Given the description of an element on the screen output the (x, y) to click on. 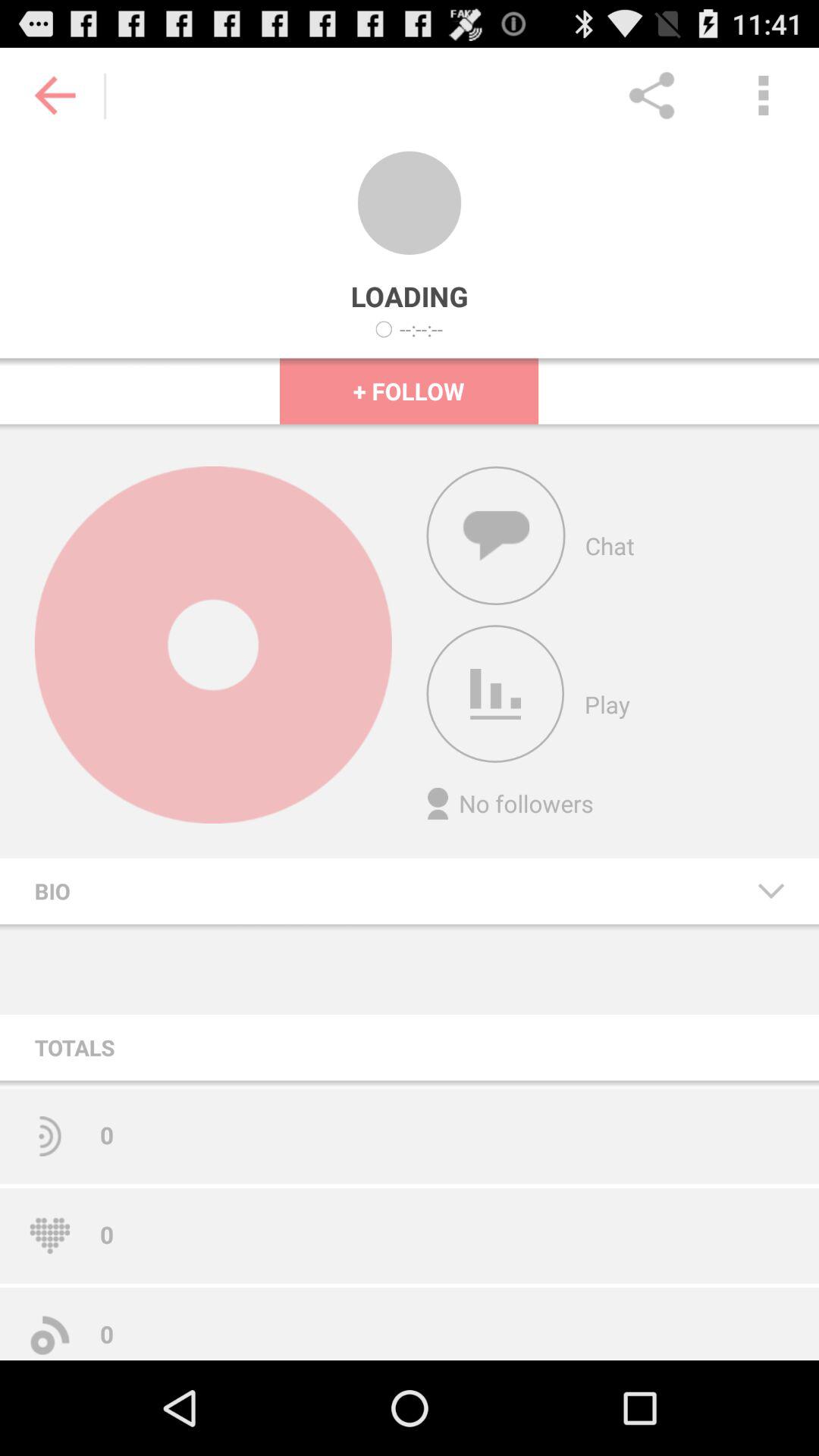
tap the icon to the left of the play app (495, 694)
